Given the description of an element on the screen output the (x, y) to click on. 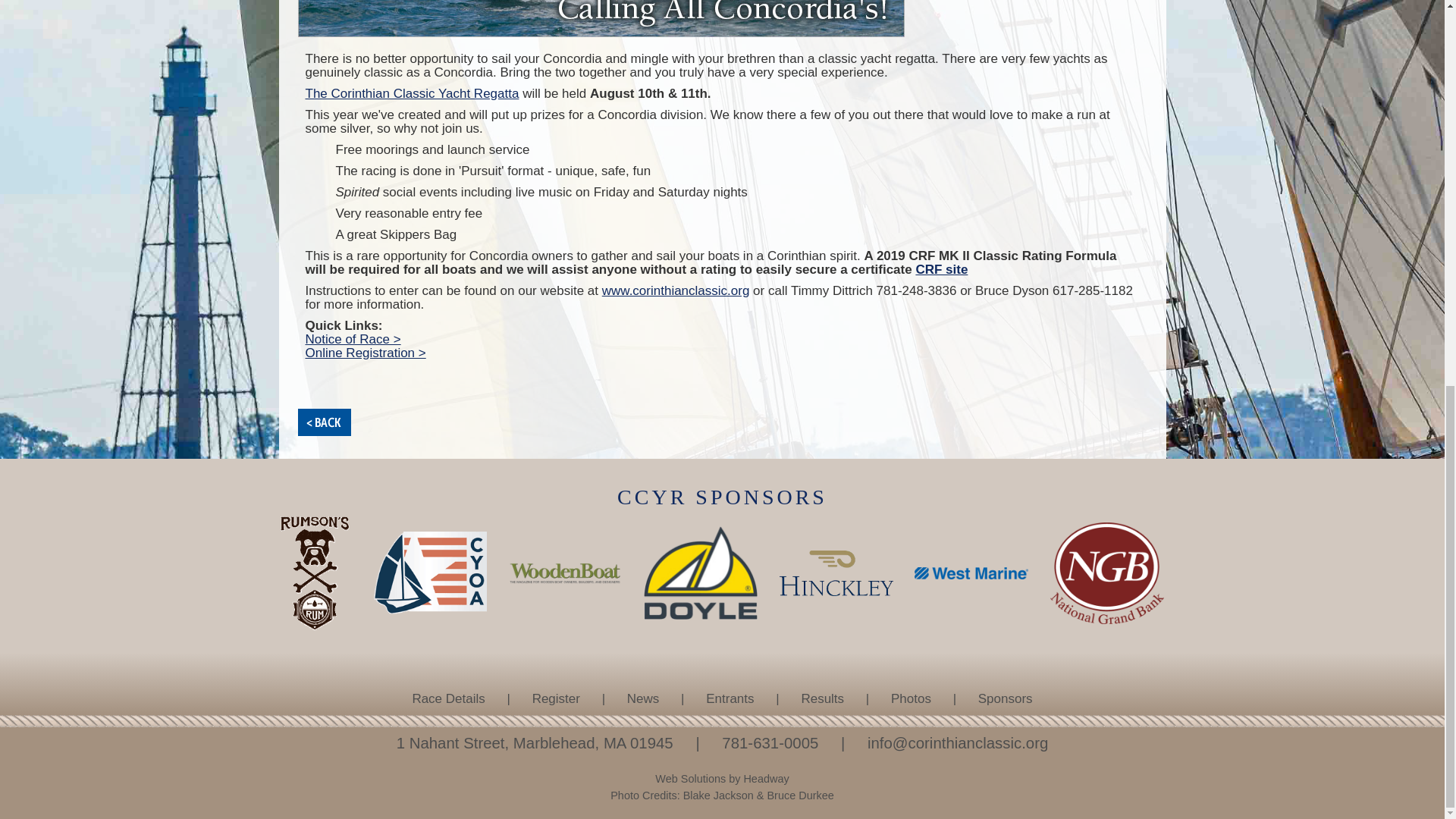
The Corinthian Classic Yacht Regatta (411, 93)
